Given the description of an element on the screen output the (x, y) to click on. 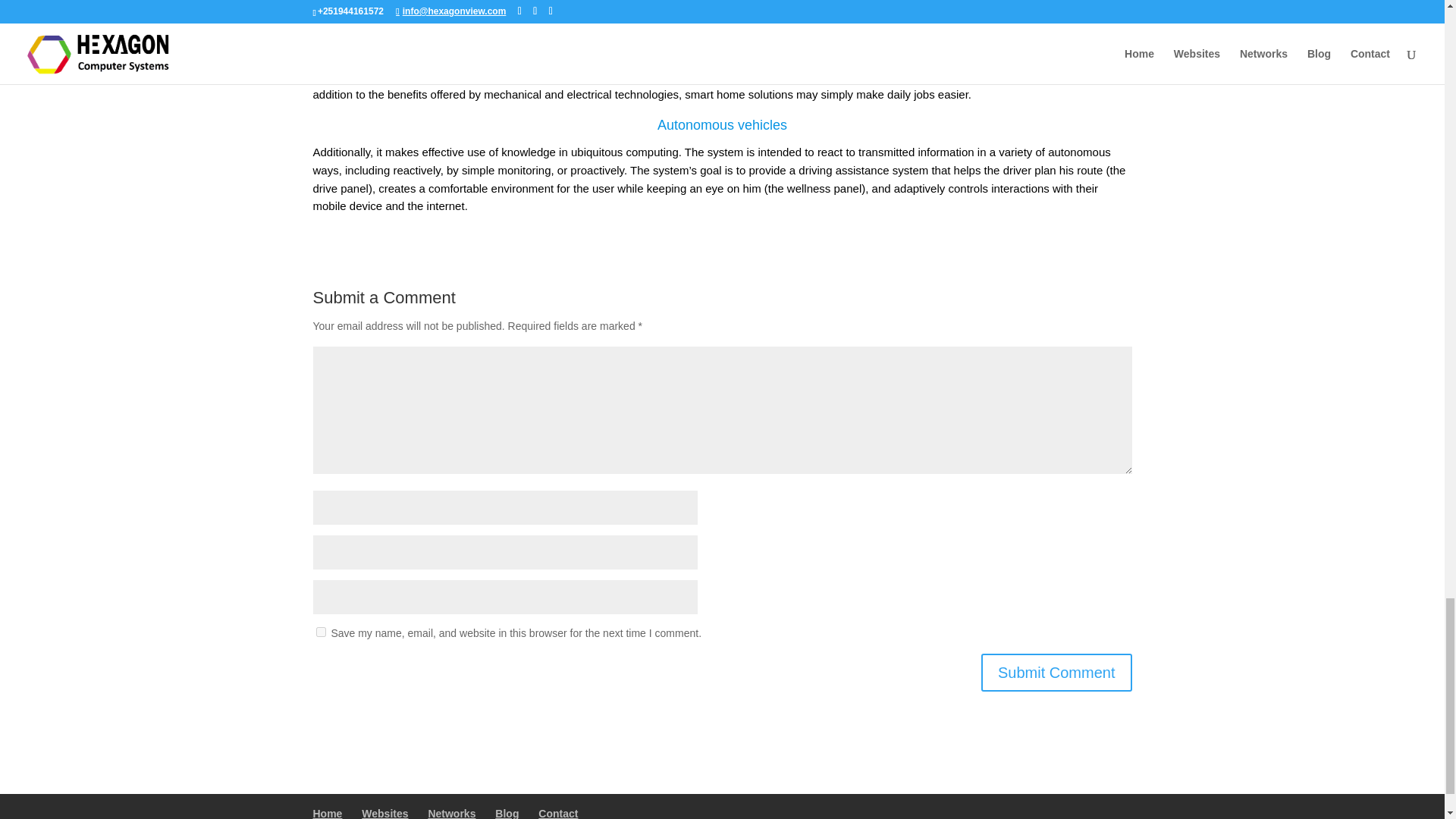
Websites (384, 812)
Submit Comment (1056, 672)
Submit Comment (1056, 672)
Contact (558, 812)
Home (327, 812)
Blog (506, 812)
yes (319, 632)
Networks (452, 812)
